Given the description of an element on the screen output the (x, y) to click on. 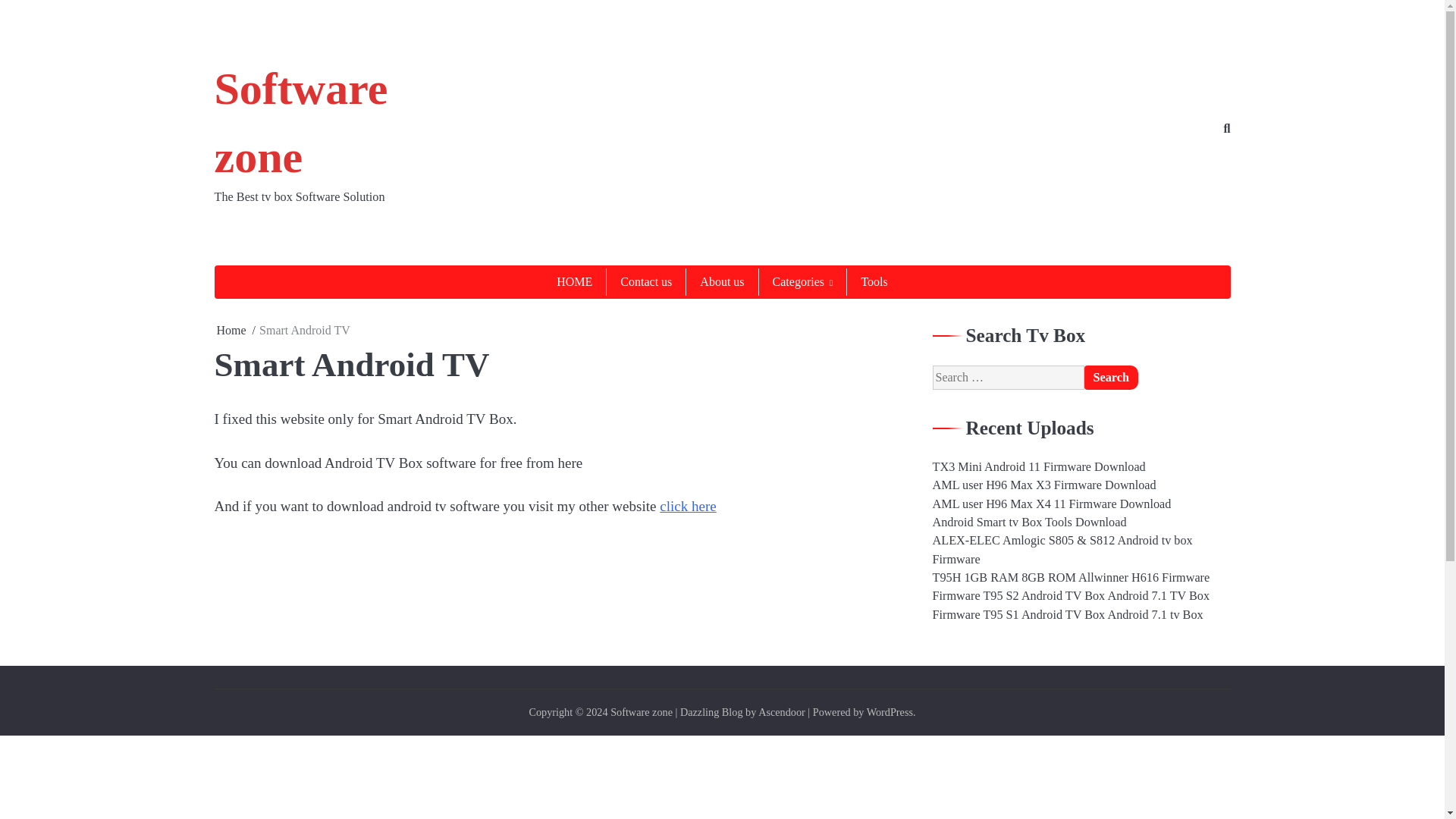
AML user H96 Max X3 Firmware Download (1044, 485)
Categories (802, 281)
Tools (874, 281)
Search (1111, 377)
click here (687, 505)
Search (1194, 162)
Search (1111, 377)
Contact us (646, 281)
TX3 Mini Android 11 Firmware Download (1039, 467)
About us (721, 281)
AML user H96 Max X4 11 Firmware Download (1052, 504)
Advertisement (694, 128)
Search (1111, 377)
HOME (574, 281)
Advertisement (721, 780)
